Given the description of an element on the screen output the (x, y) to click on. 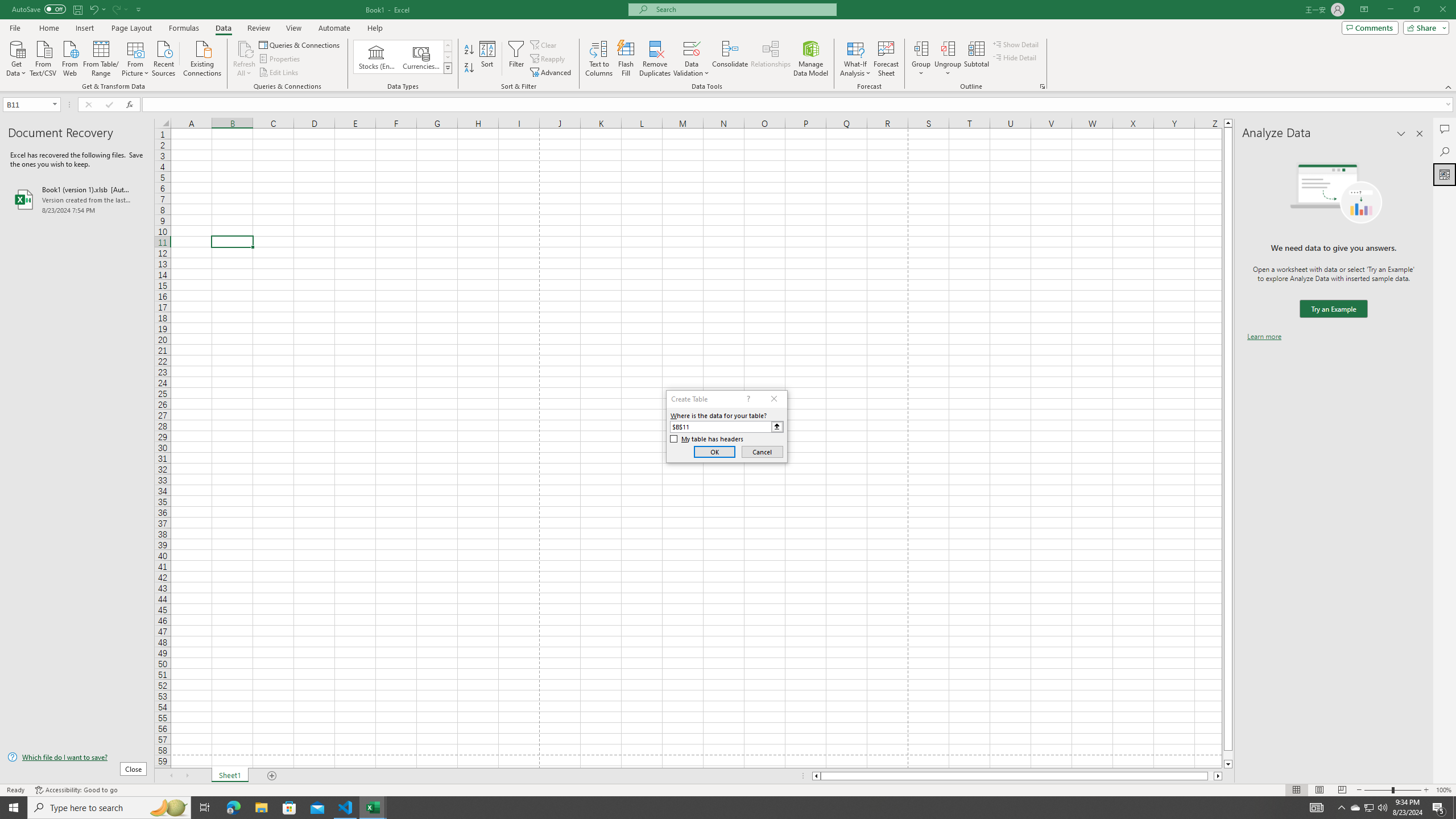
Consolidate... (729, 58)
Class: NetUIImage (447, 68)
Which file do I want to save? (77, 757)
Group and Outline Settings (1042, 85)
Analyze Data (1444, 173)
Close pane (1419, 133)
Formula Bar (799, 104)
